Given the description of an element on the screen output the (x, y) to click on. 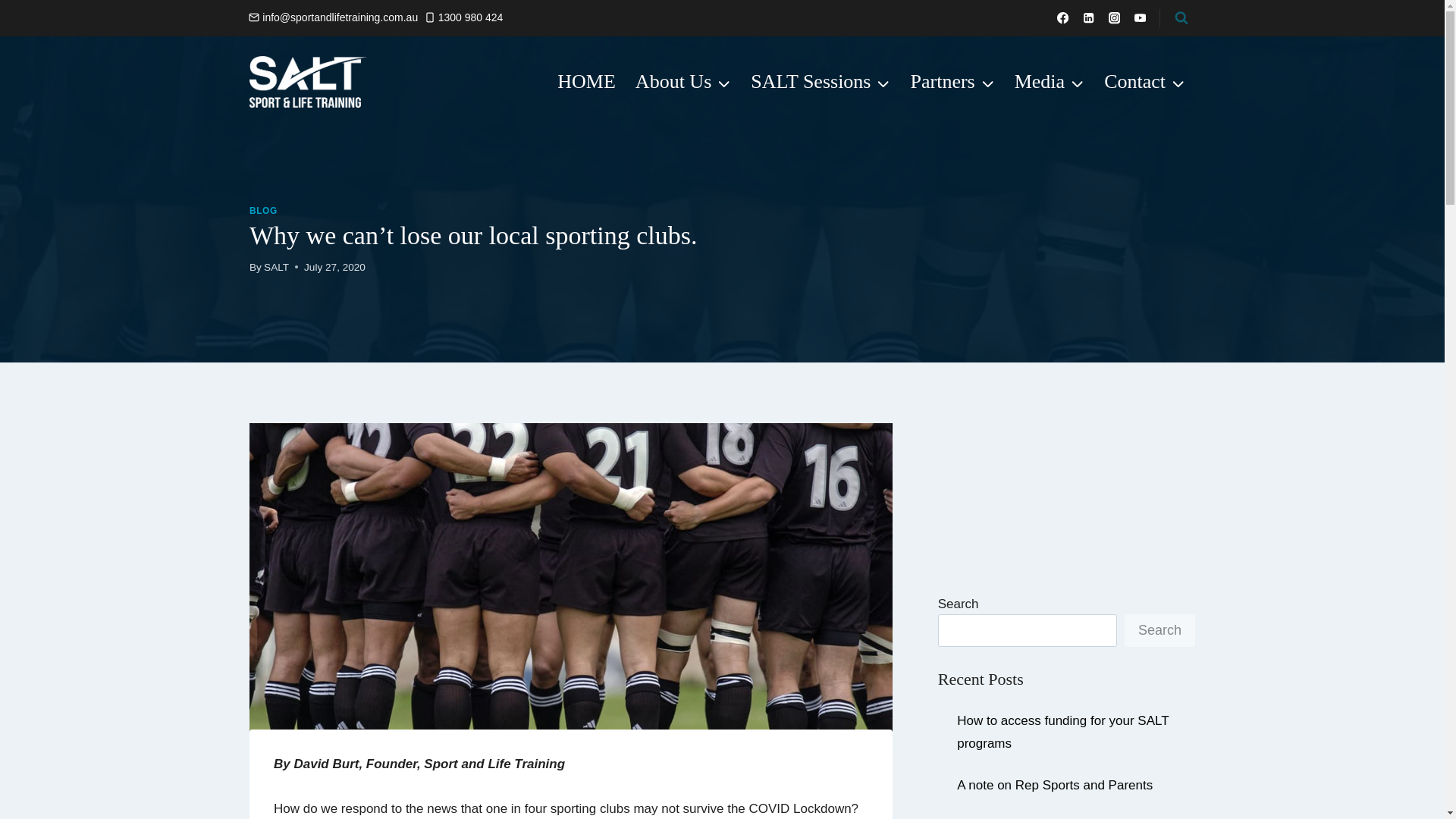
1300 980 424 (464, 17)
About Us (683, 81)
HOME (586, 81)
Media (1049, 81)
Contact (1144, 81)
Partners (952, 81)
SALT Sessions (820, 81)
